Given the description of an element on the screen output the (x, y) to click on. 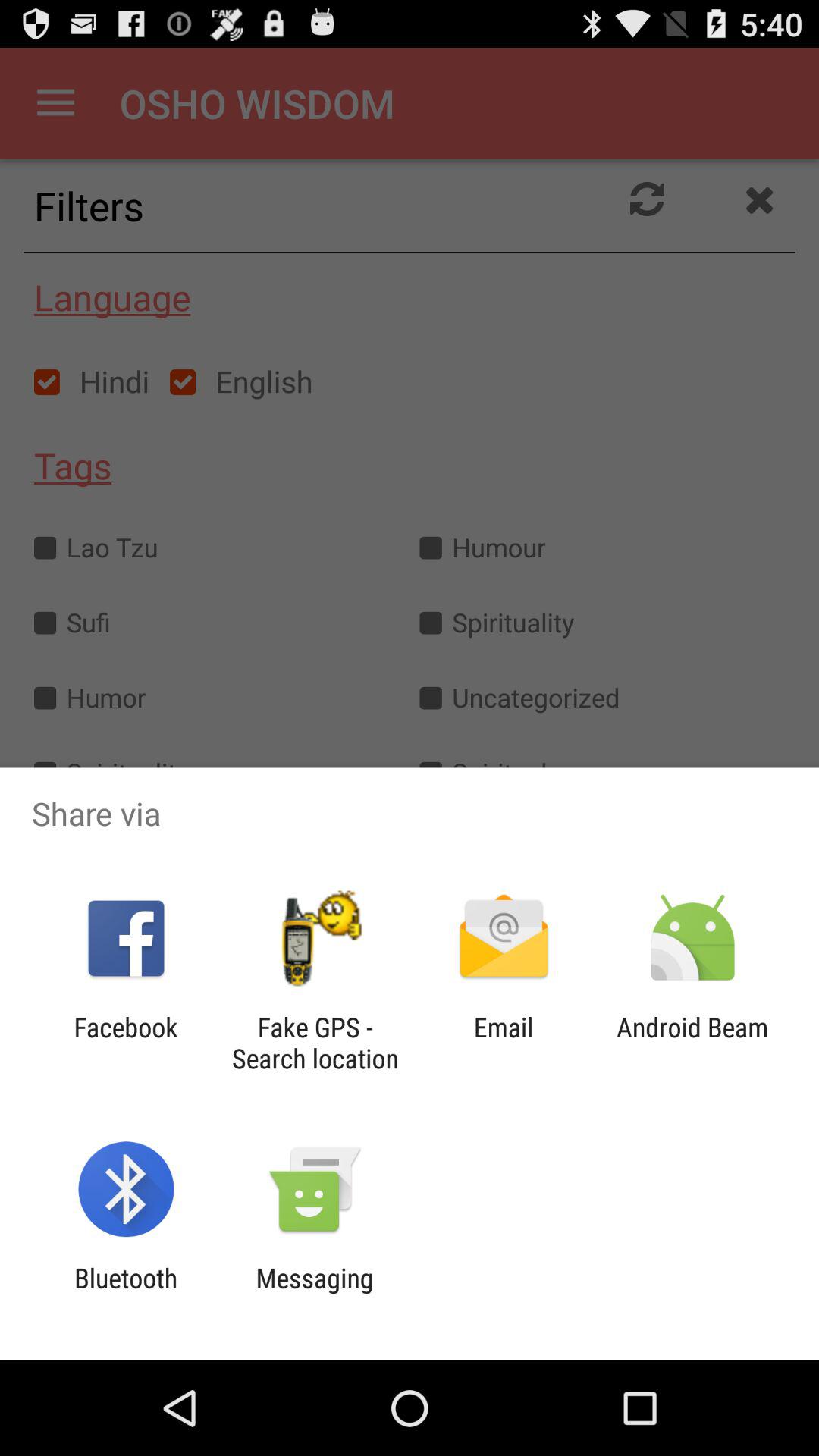
launch item next to the bluetooth app (314, 1293)
